Given the description of an element on the screen output the (x, y) to click on. 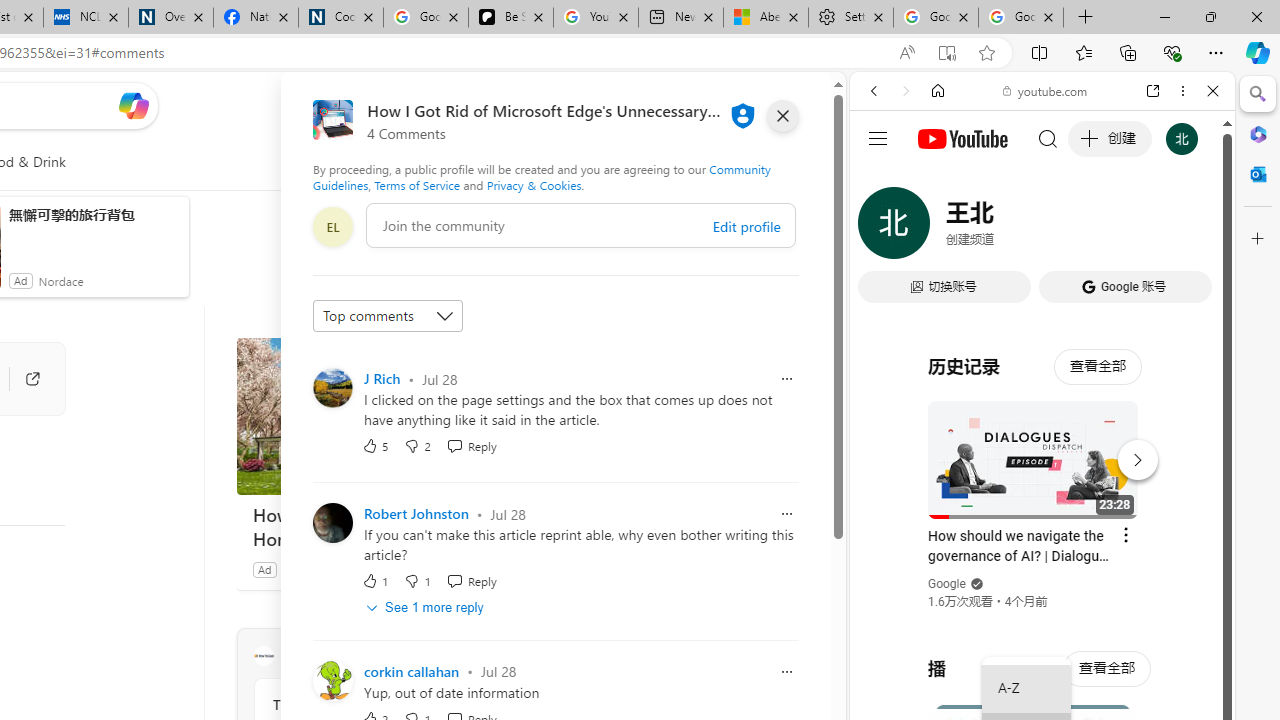
Open link in new tab (1153, 91)
#you (1042, 445)
Preferences (1189, 228)
Forward (906, 91)
Personalize (488, 162)
How To Borrow From Your Home Without Touching Your Mortgage (386, 416)
Google (947, 584)
Search Filter, IMAGES (939, 228)
See 1 more reply (425, 606)
